Given the description of an element on the screen output the (x, y) to click on. 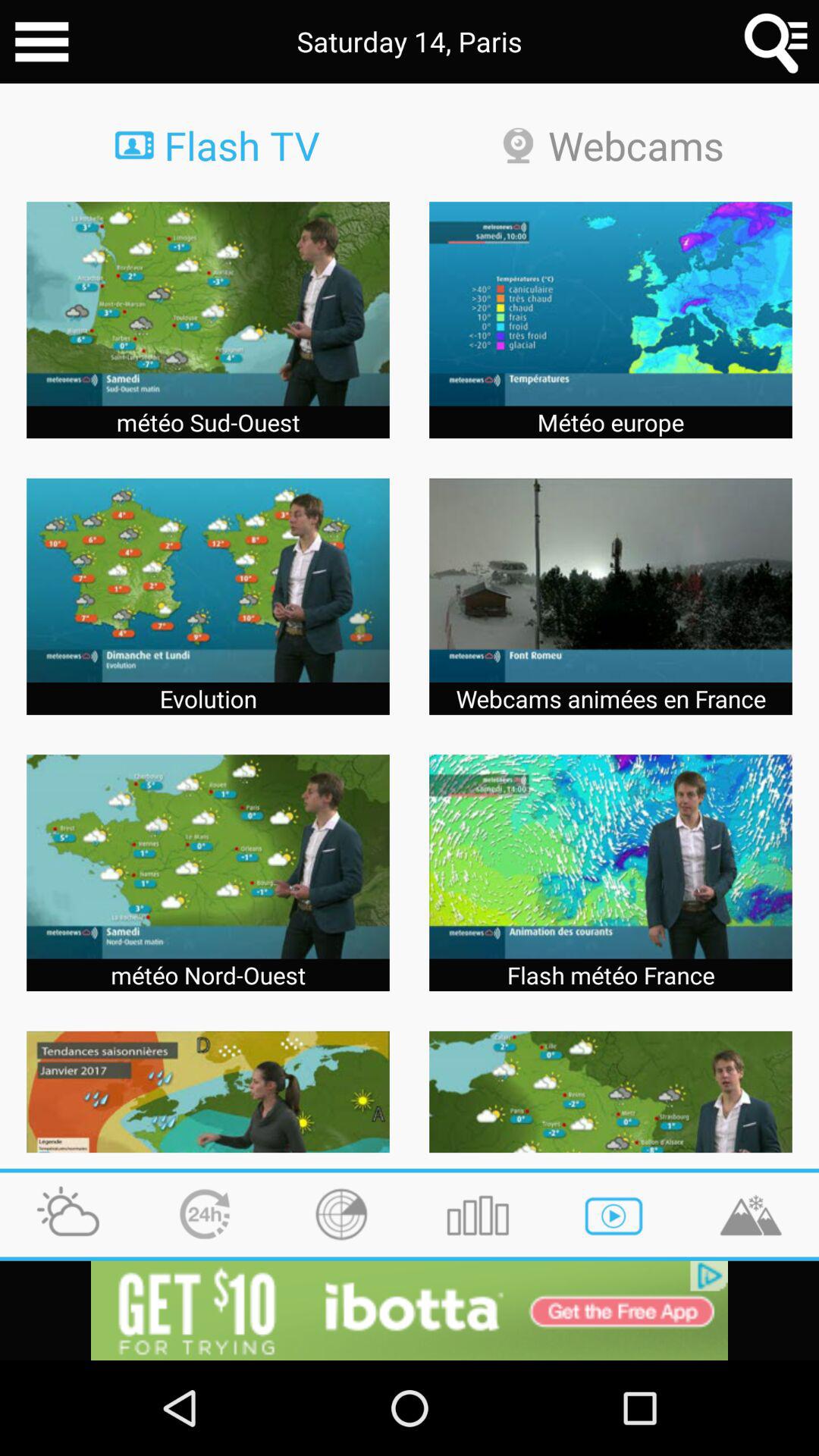
more options (41, 41)
